Given the description of an element on the screen output the (x, y) to click on. 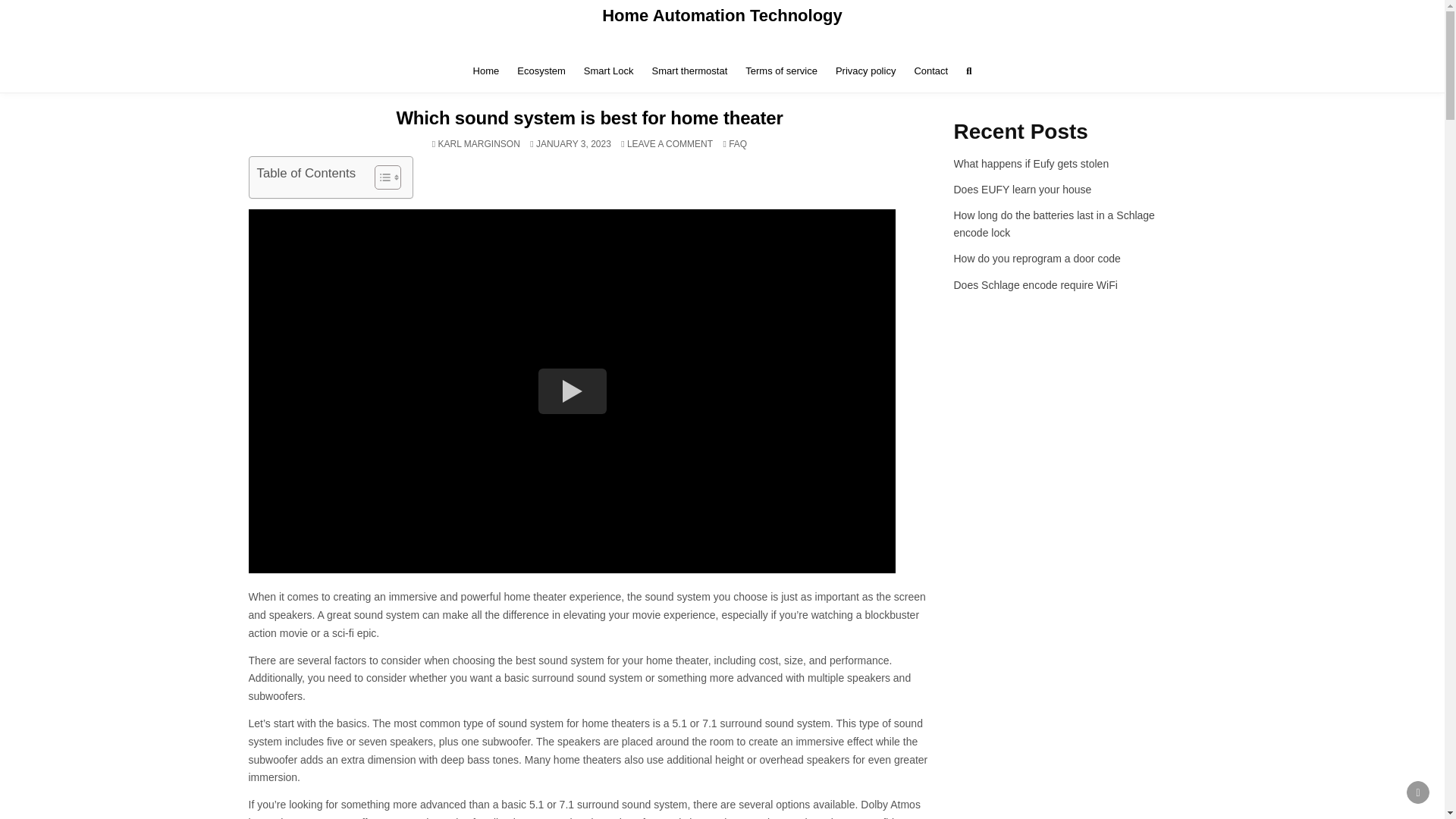
SCROLL TO TOP (1417, 792)
Ecosystem (541, 70)
Smart thermostat (689, 70)
FAQ (737, 143)
Home (486, 70)
Does EUFY learn your house (1022, 189)
Contact (930, 70)
SCROLL TO TOP (1417, 792)
